Given the description of an element on the screen output the (x, y) to click on. 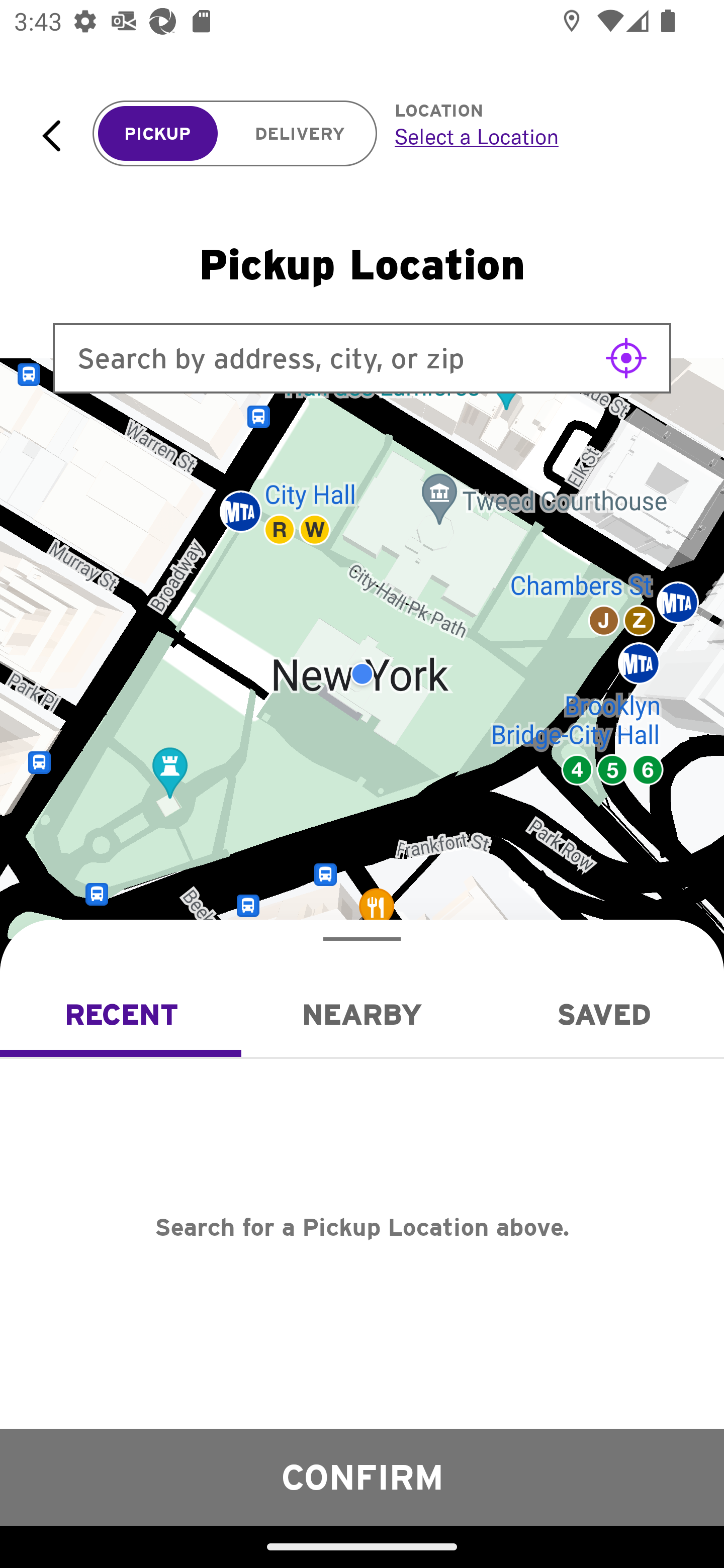
PICKUP (157, 133)
DELIVERY (299, 133)
Select a Location (536, 136)
Search by address, city, or zip (361, 358)
Google Map (362, 674)
Nearby NEARBY (361, 1014)
Saved SAVED (603, 1014)
CONFIRM (362, 1476)
